Given the description of an element on the screen output the (x, y) to click on. 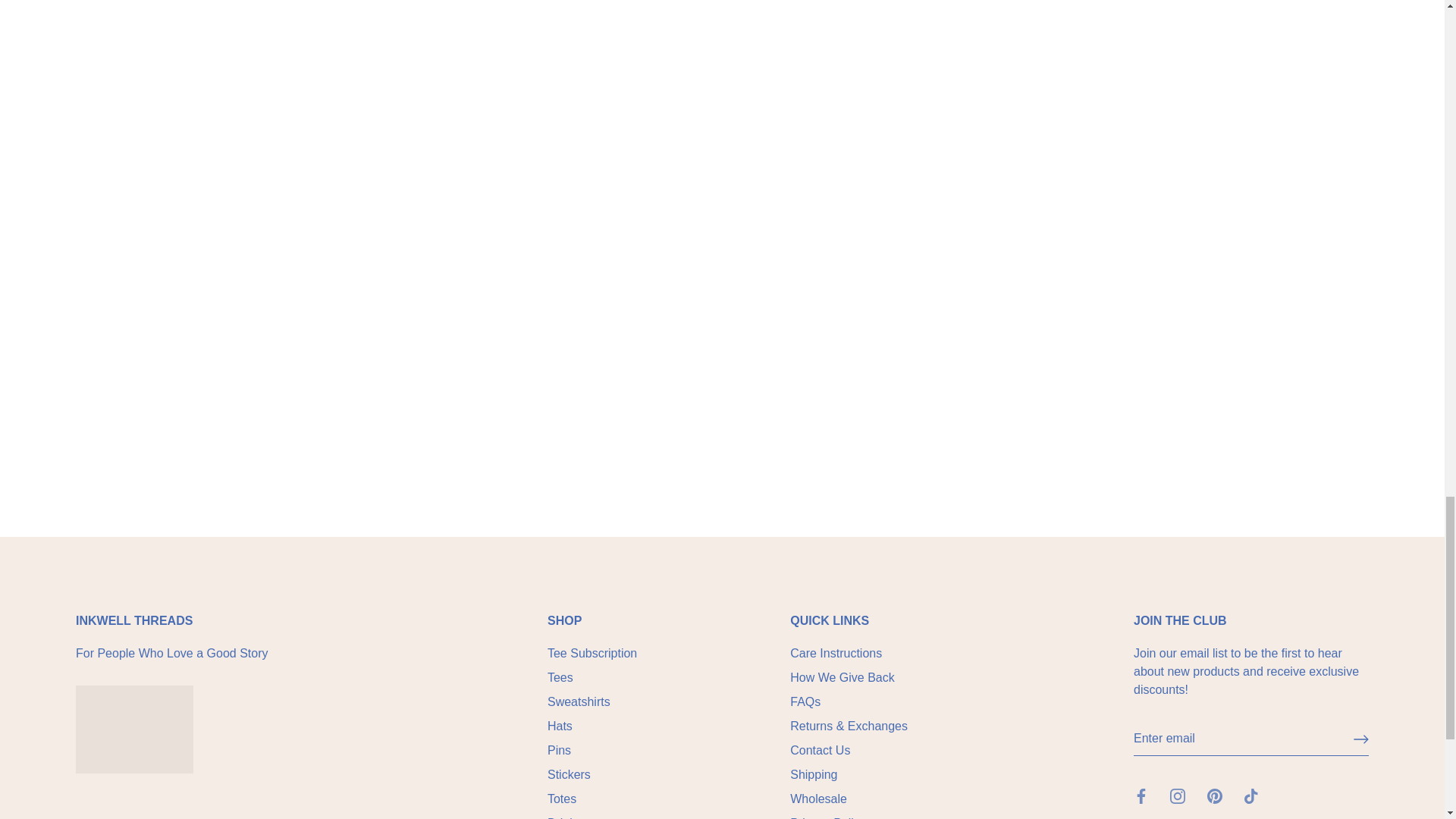
Pinterest (1215, 795)
RIGHT ARROW LONG (1361, 738)
Instagram (1177, 795)
